Given the description of an element on the screen output the (x, y) to click on. 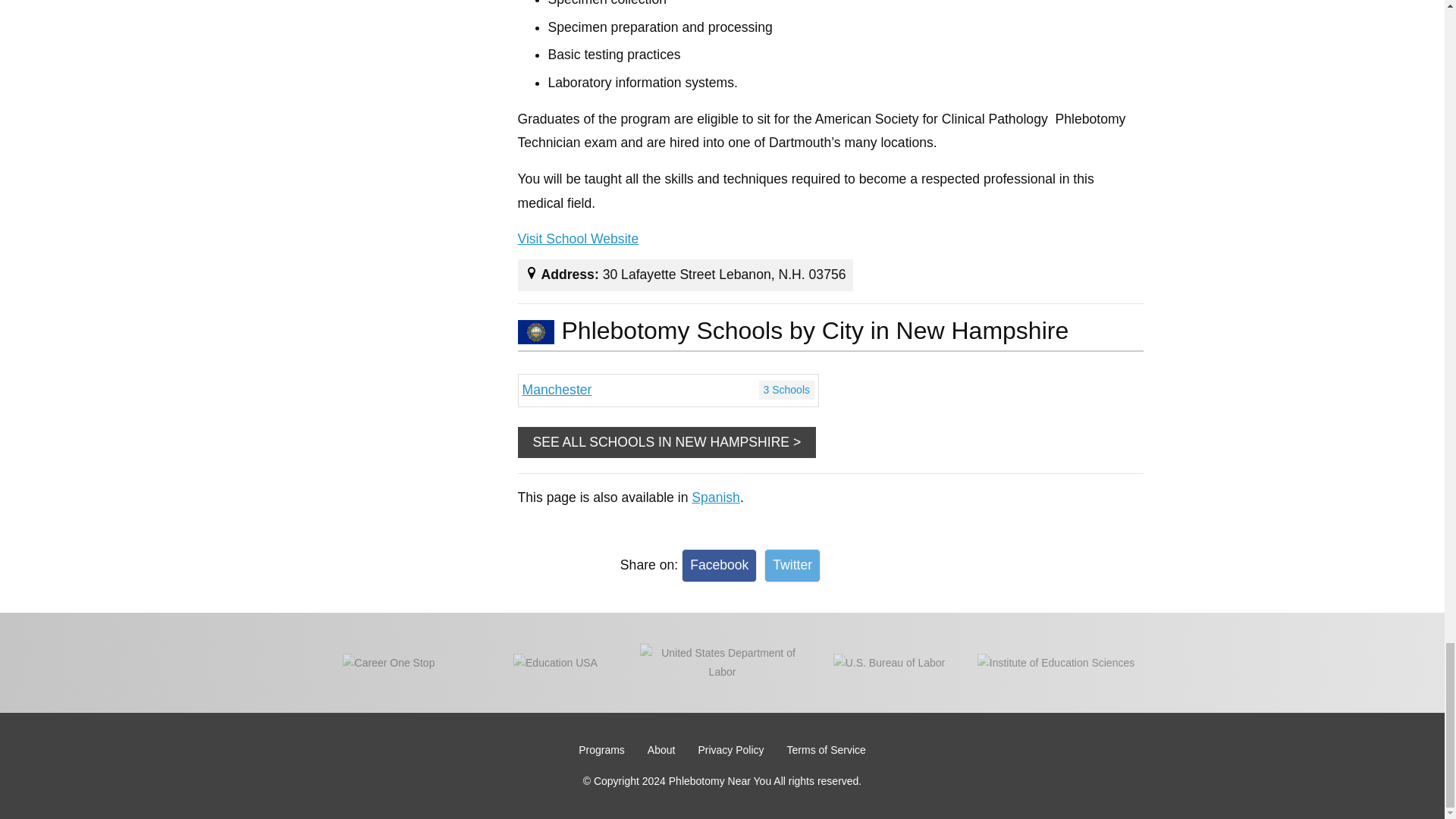
Visit School Website (577, 239)
Facebook (719, 564)
About (661, 749)
Spanish (715, 497)
Twitter (792, 564)
Privacy Policy (729, 749)
Programs (601, 749)
Terms of Service (667, 390)
Phlebotomy Near You (826, 749)
